Given the description of an element on the screen output the (x, y) to click on. 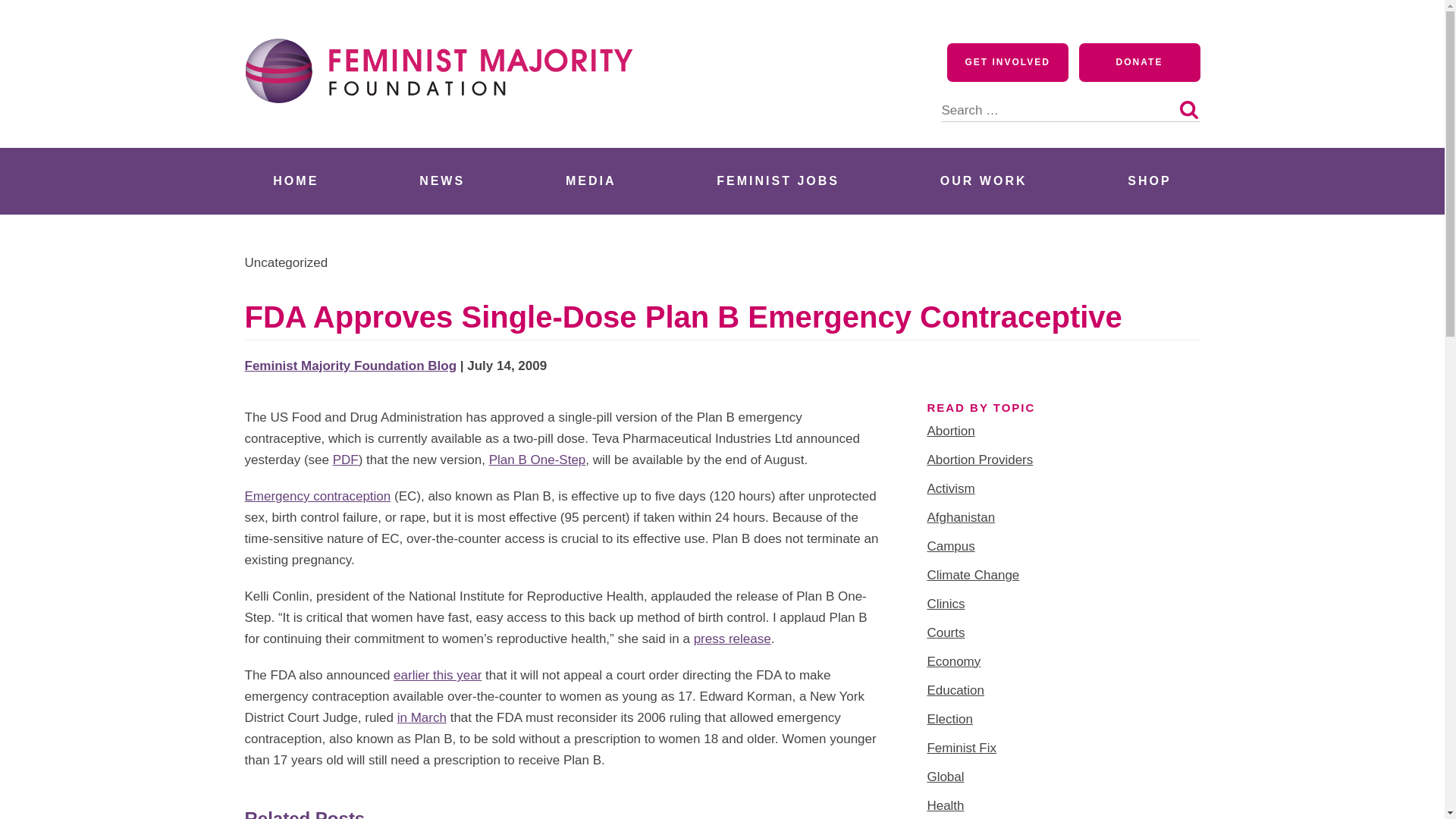
Emergency contraception (317, 495)
PDF (345, 459)
Afghanistan (960, 517)
MEDIA (591, 181)
Search for: (1070, 101)
press release (732, 638)
Feminist Majority Foundation (445, 130)
Search (1187, 109)
FEMINIST JOBS (777, 181)
DONATE (1138, 62)
